Given the description of an element on the screen output the (x, y) to click on. 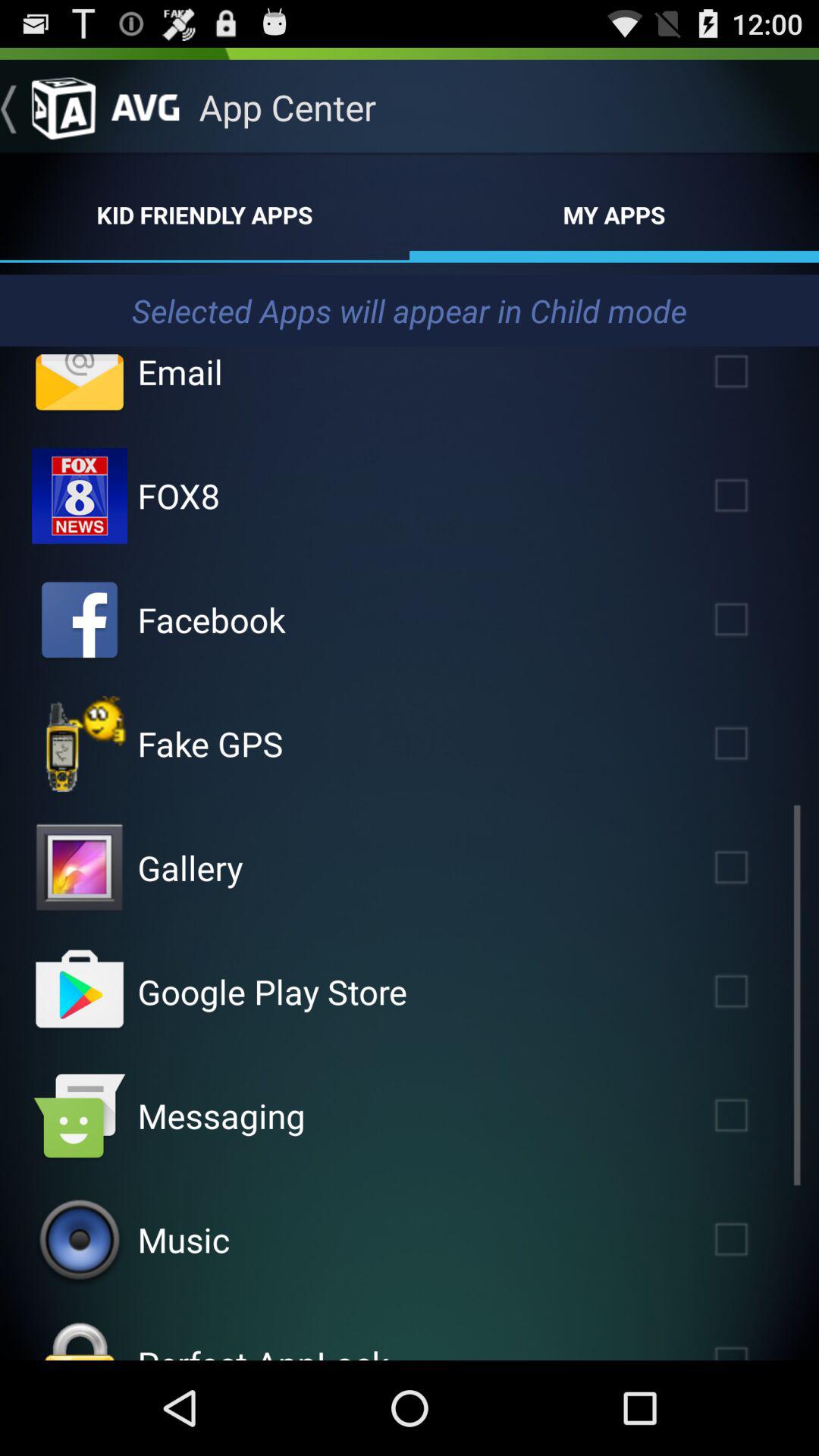
jump to the perfect applock icon (263, 1350)
